Given the description of an element on the screen output the (x, y) to click on. 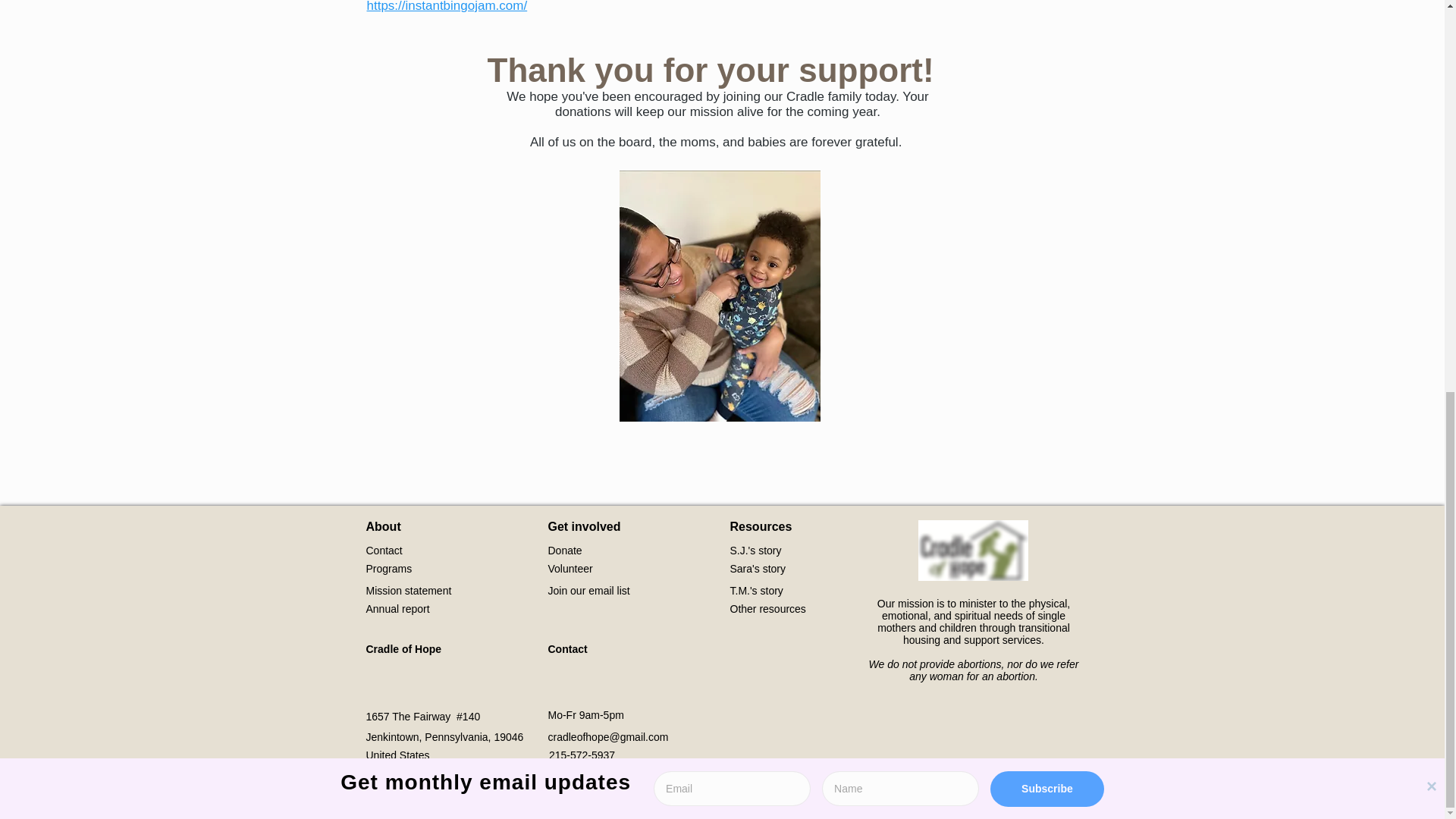
Join our email list (587, 590)
Programs (388, 568)
Contact (383, 550)
Sara's story (756, 568)
Donate (563, 550)
T.M.'s story (756, 590)
Annual report (397, 608)
Other resources (767, 608)
Volunteer (569, 568)
S.J.'s story (754, 550)
Mission statement (408, 590)
